Given the description of an element on the screen output the (x, y) to click on. 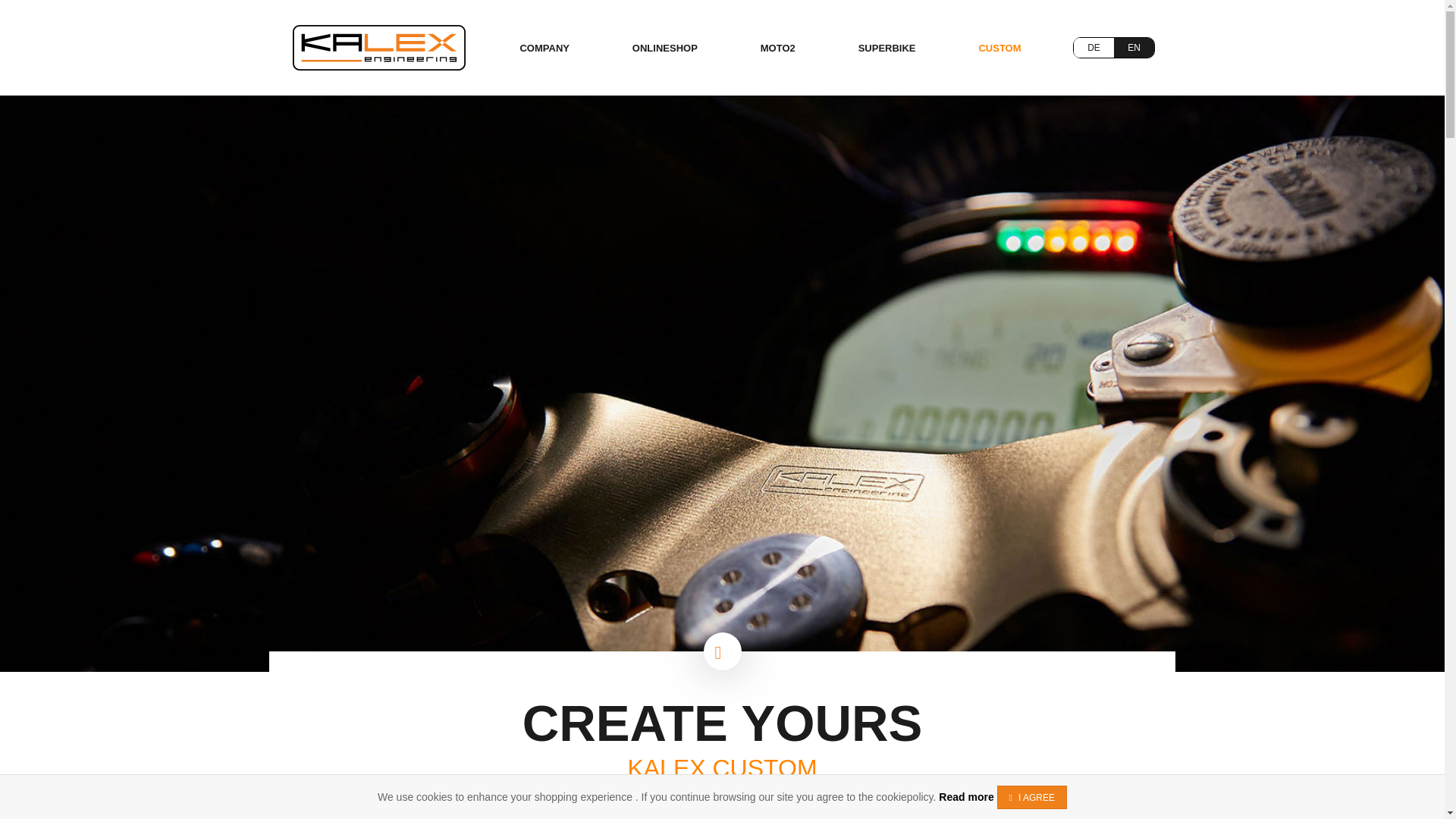
CUSTOM (999, 48)
Moto2 (778, 48)
COMPANY (543, 48)
Custom (999, 48)
Startsite (378, 46)
Onlineshop (664, 48)
EN (1133, 47)
DE (1093, 47)
SUPERBIKE (887, 48)
Privacy (965, 797)
